Given the description of an element on the screen output the (x, y) to click on. 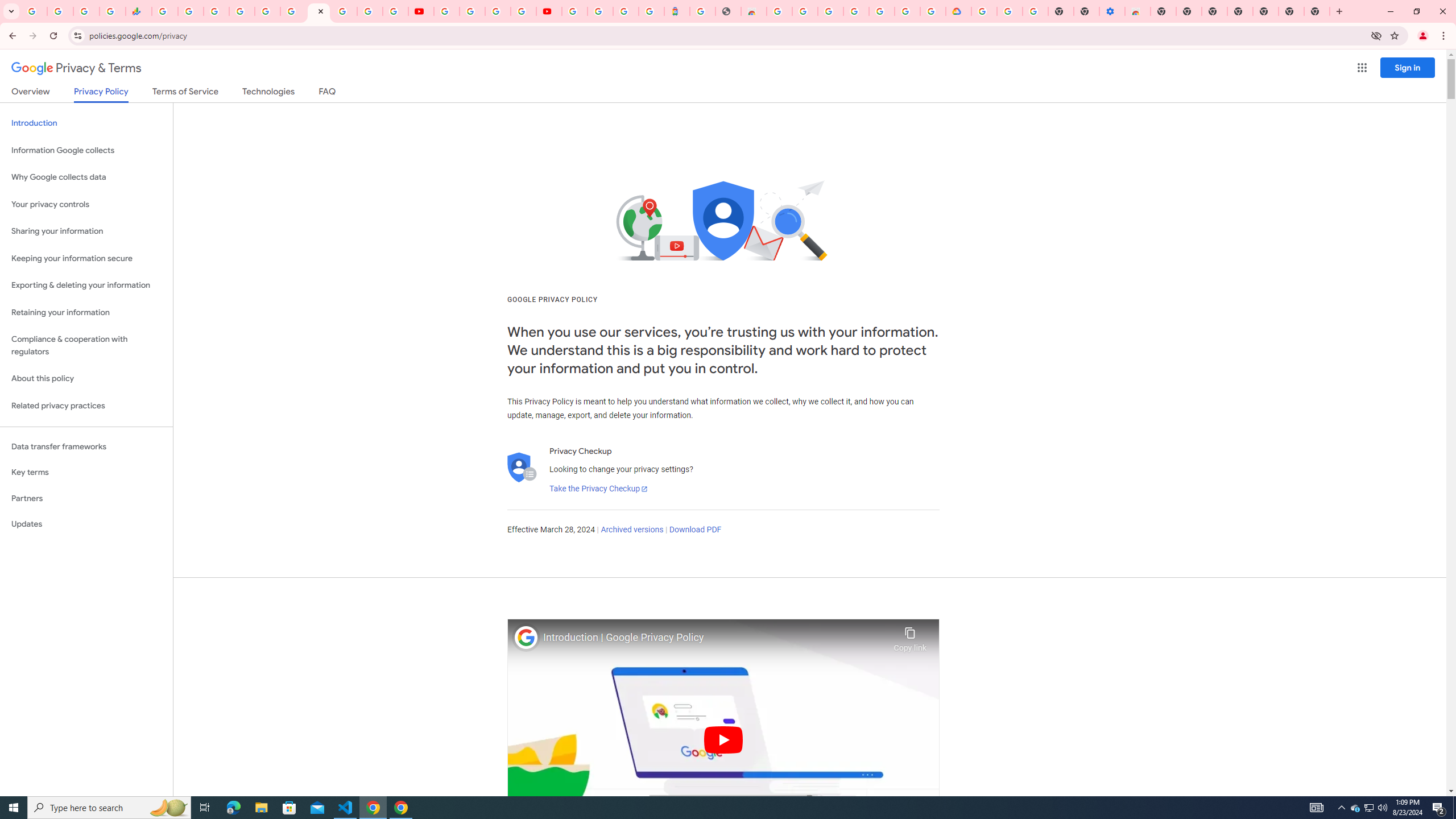
Chrome Web Store - Household (753, 11)
New Tab (1316, 11)
Exporting & deleting your information (86, 284)
Download PDF (695, 529)
Sign in - Google Accounts (983, 11)
Retaining your information (86, 312)
Photo image of Google (526, 636)
Key terms (86, 472)
